Given the description of an element on the screen output the (x, y) to click on. 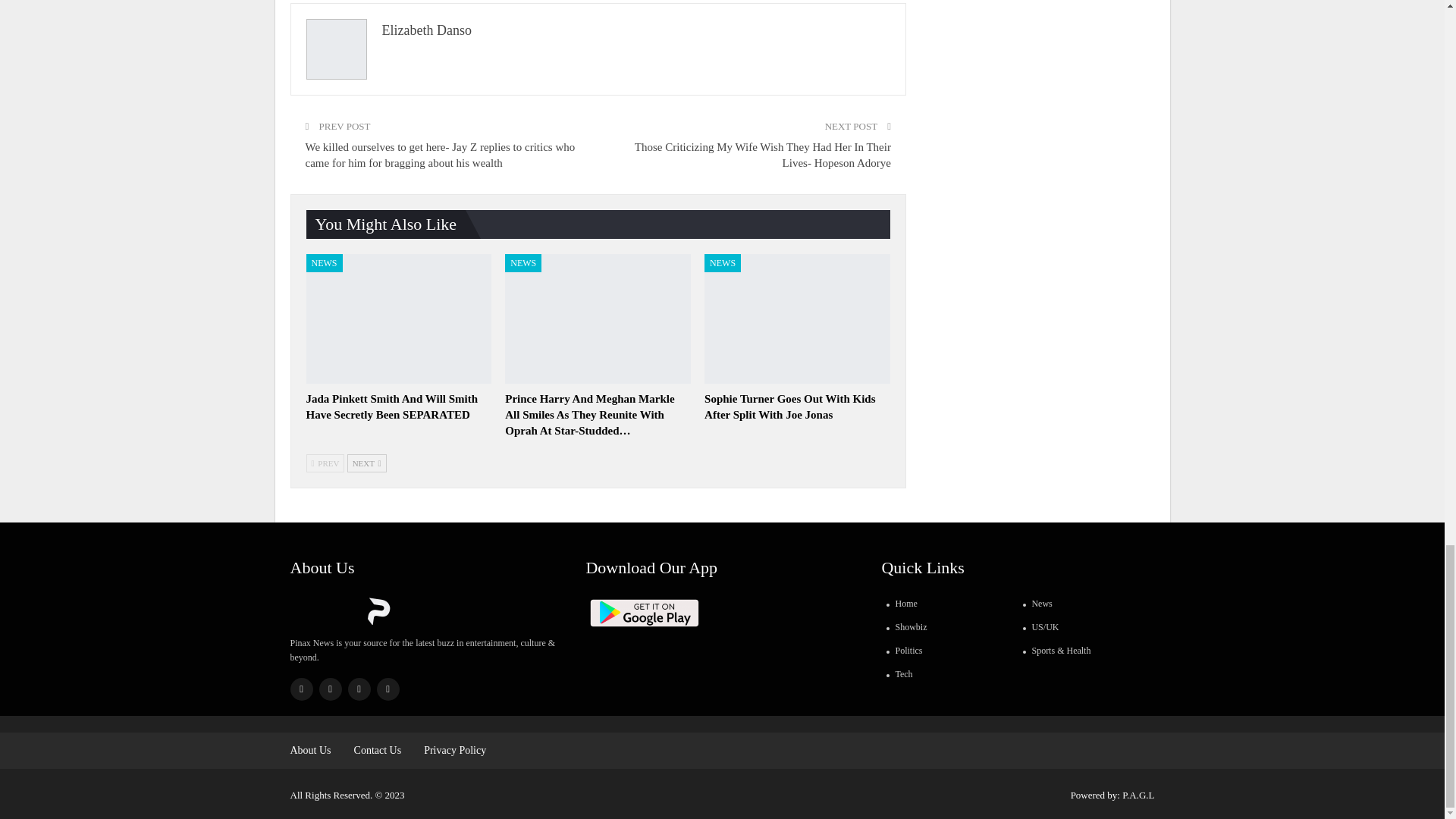
Sophie Turner Goes Out With Kids After Split With Joe Jonas (796, 318)
